Given the description of an element on the screen output the (x, y) to click on. 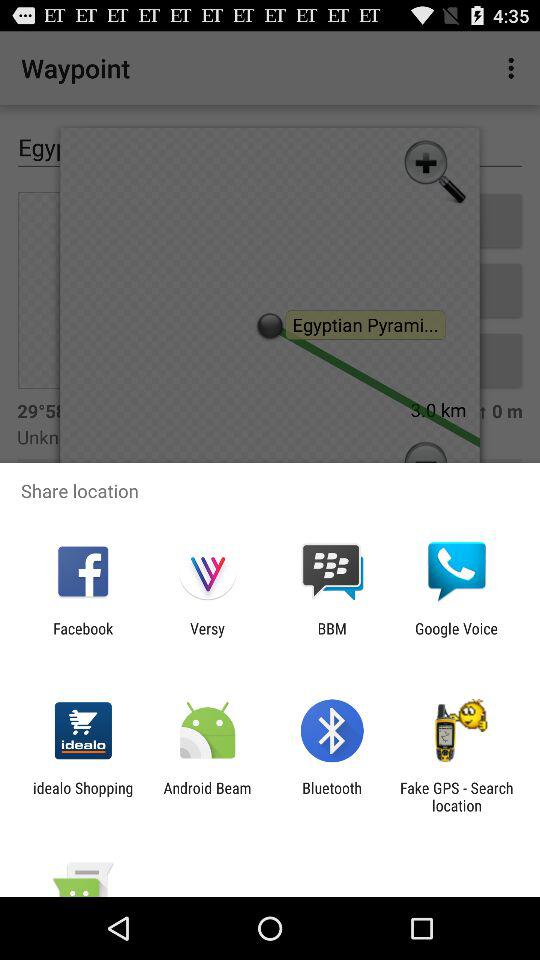
swipe until the fake gps search item (456, 796)
